Given the description of an element on the screen output the (x, y) to click on. 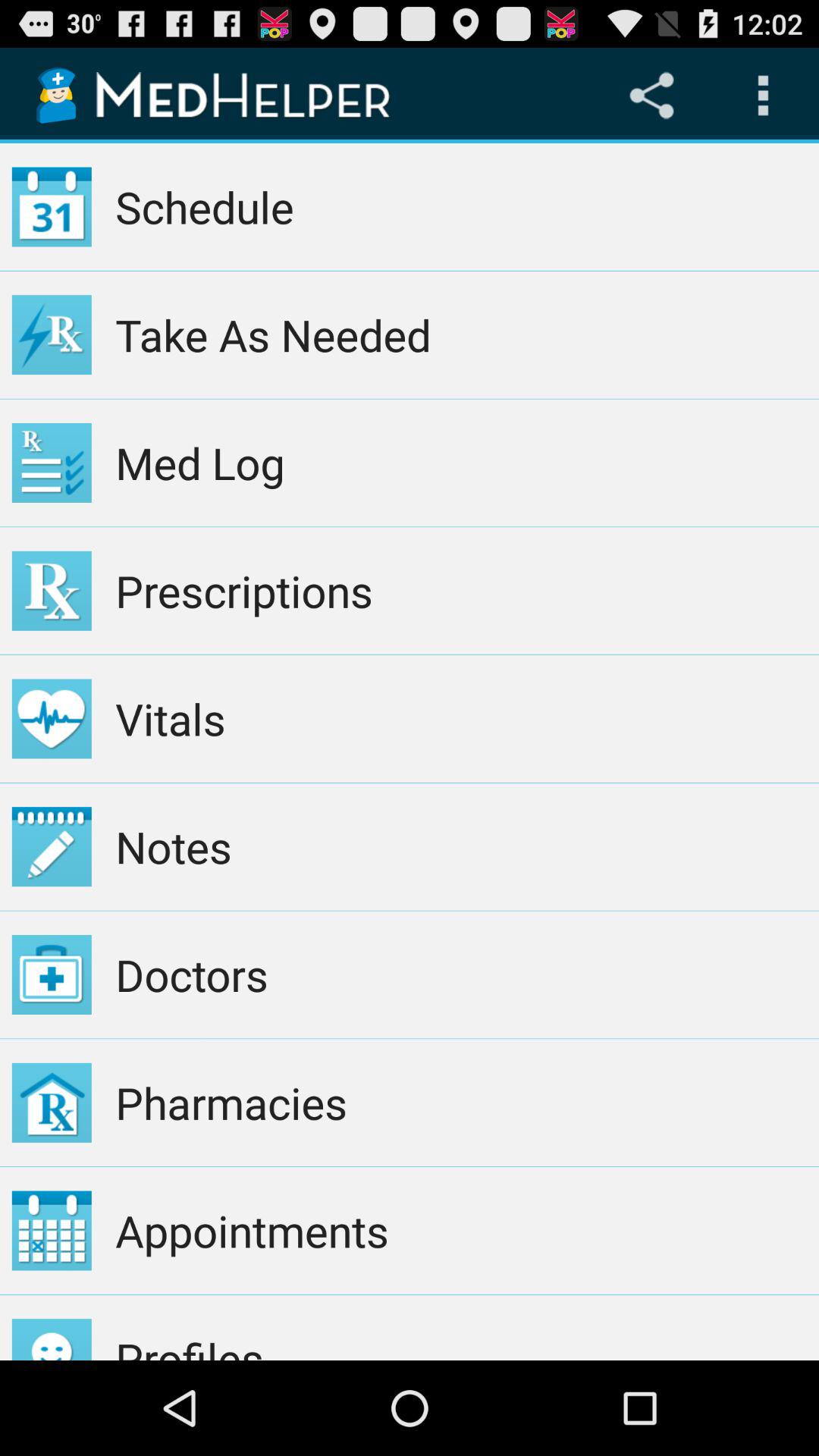
turn off the item above the doctors app (461, 846)
